Given the description of an element on the screen output the (x, y) to click on. 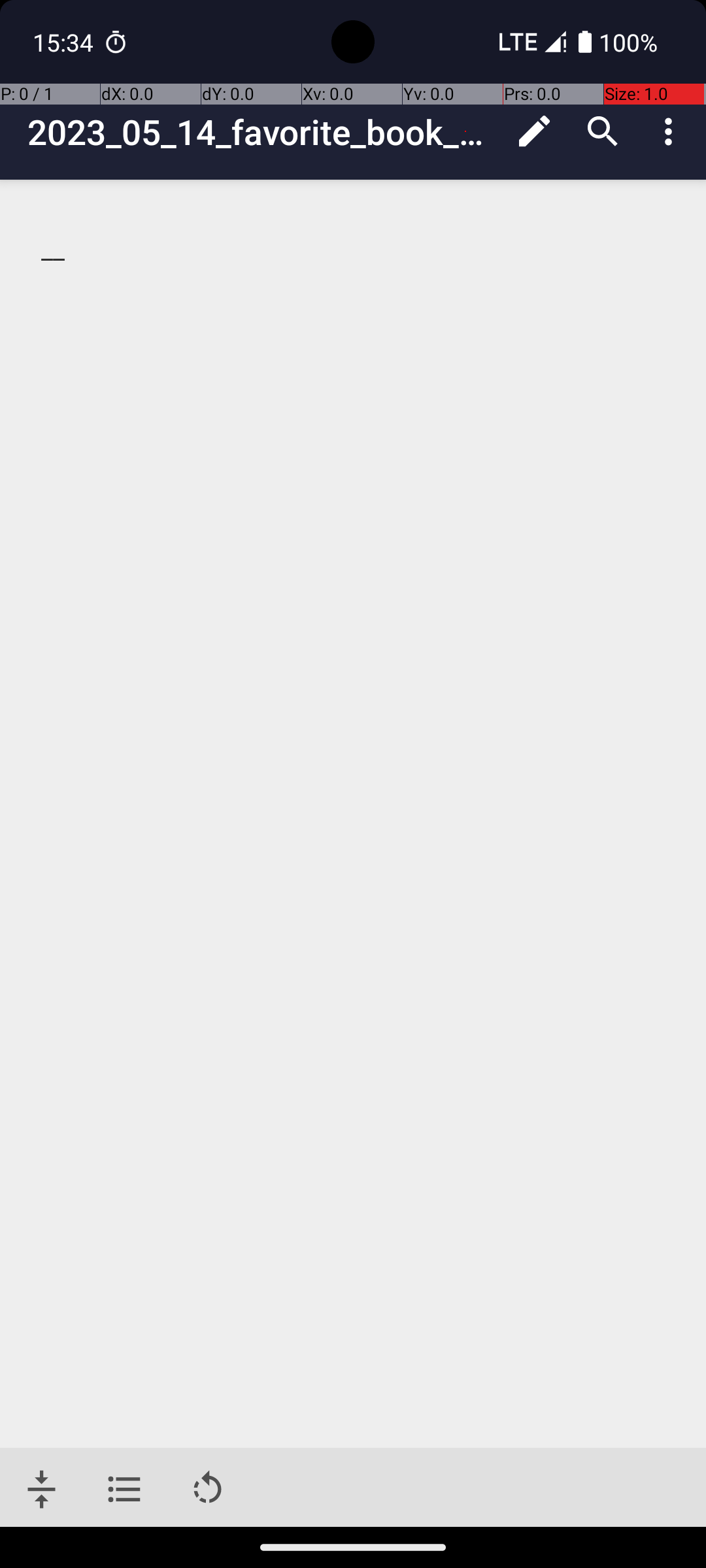
2023_05_14_favorite_book_quotes Element type: android.widget.TextView (263, 131)
__ Element type: android.widget.TextView (354, 249)
